Given the description of an element on the screen output the (x, y) to click on. 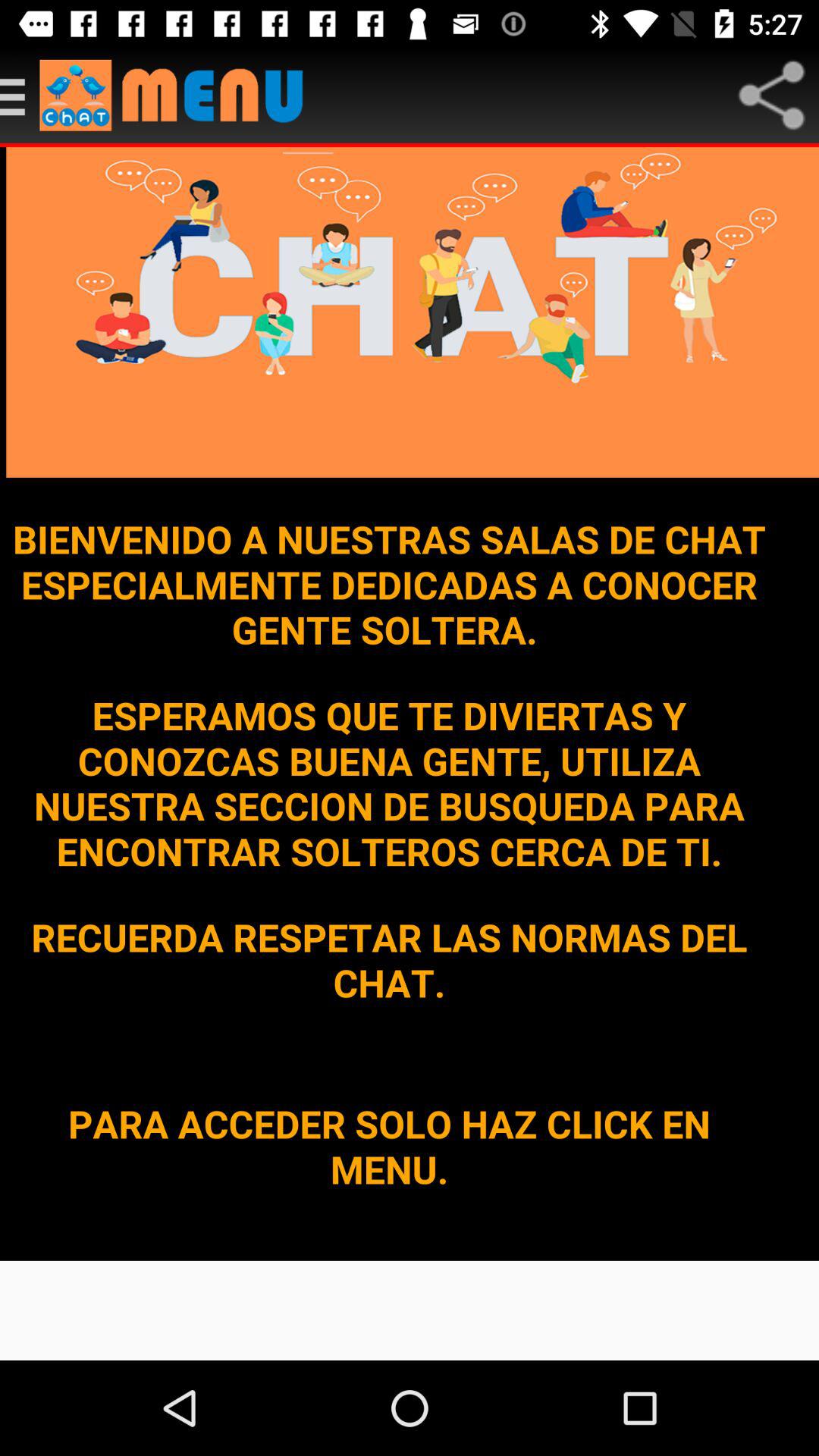
share (771, 95)
